Given the description of an element on the screen output the (x, y) to click on. 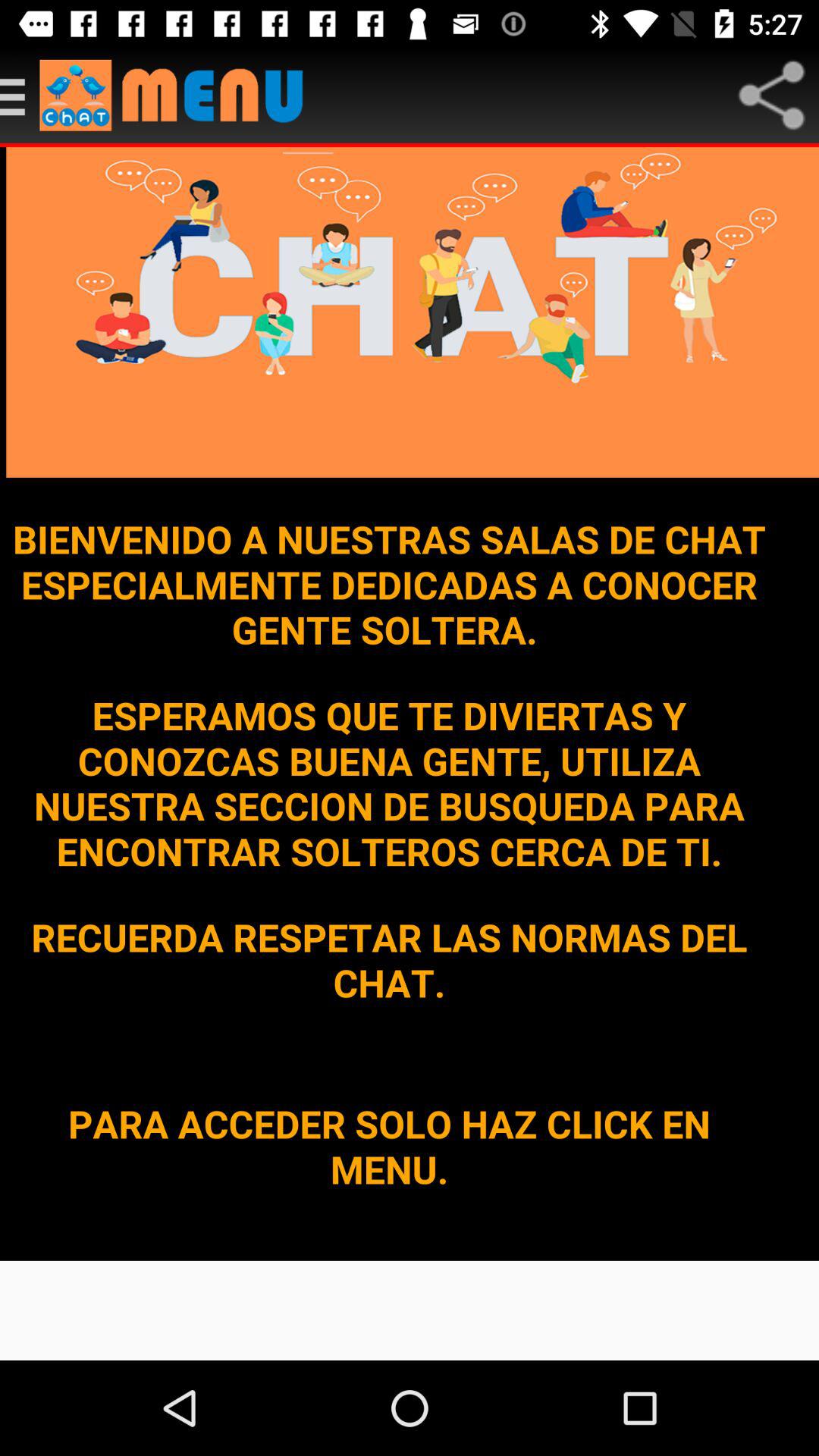
share (771, 95)
